Given the description of an element on the screen output the (x, y) to click on. 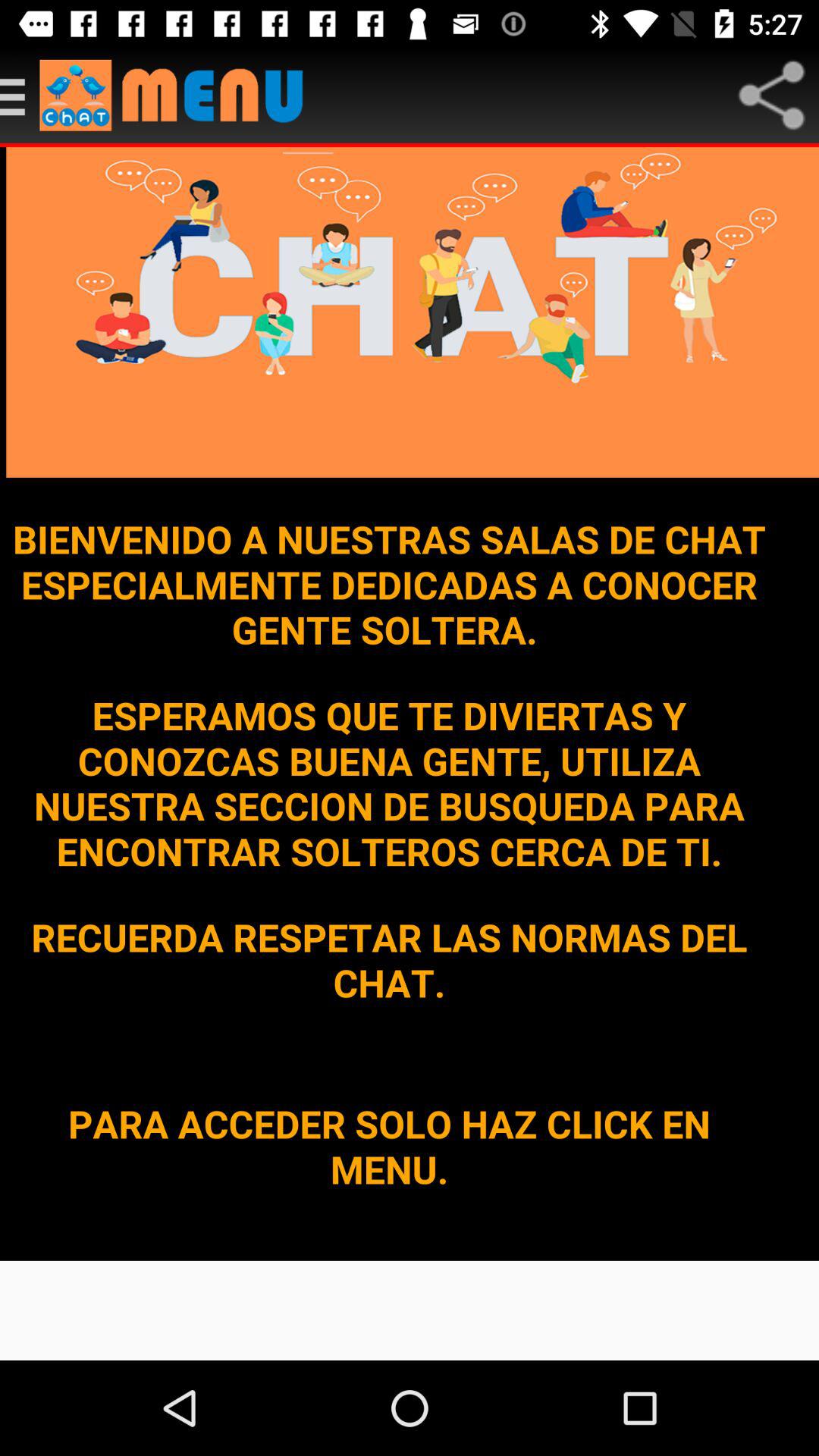
share (771, 95)
